Given the description of an element on the screen output the (x, y) to click on. 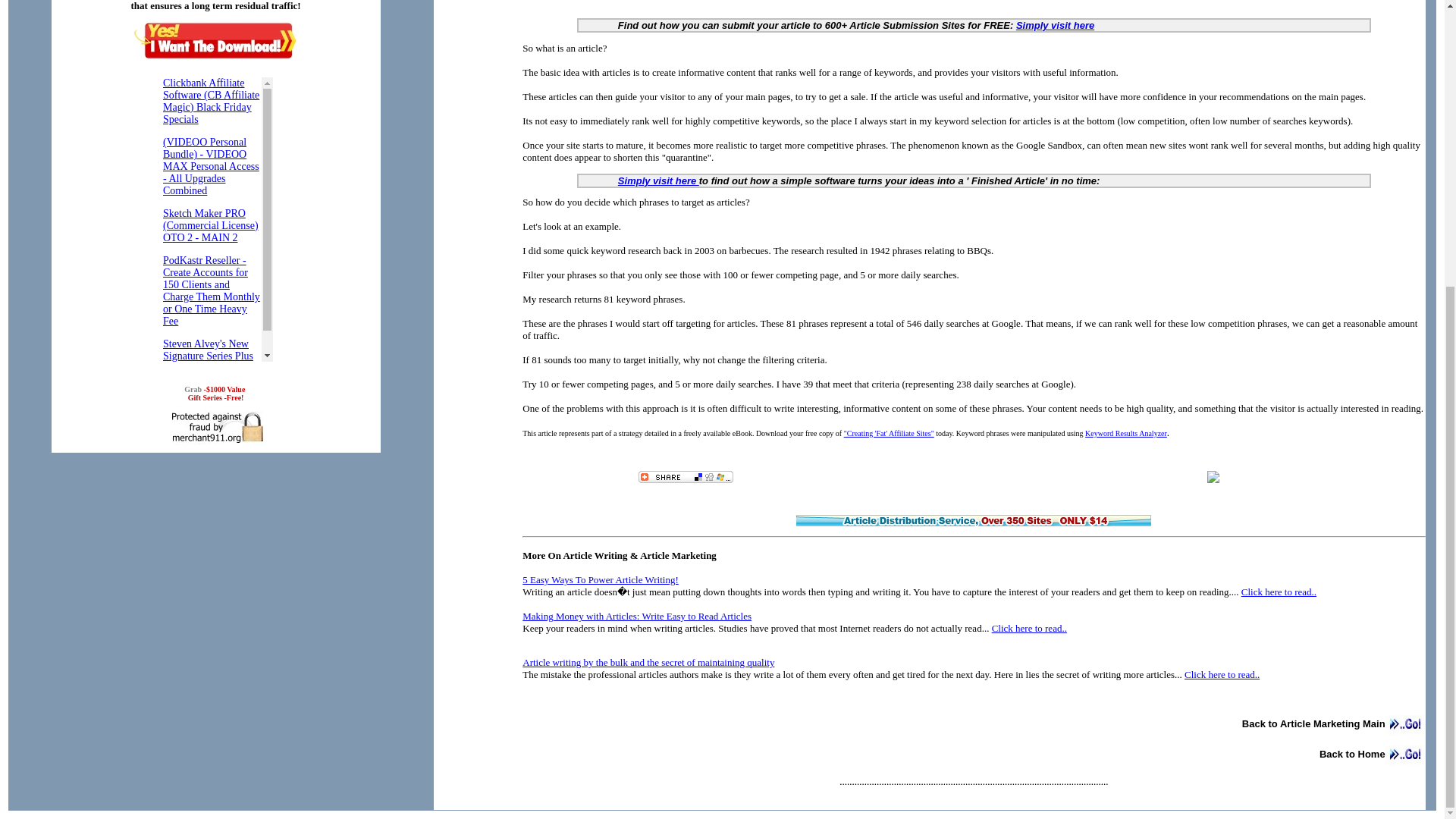
Making Money with Articles: Write Easy to Read Articles (636, 615)
5 Easy Ways To Power Article Writing! (600, 579)
Click here to read.. (1029, 627)
"Creating 'Fat' Affiliate Sites" (889, 433)
Simply visit here (657, 180)
Click here to read.. (1222, 674)
Click here to read.. (1278, 591)
Simply visit here (1055, 25)
Keyword Results Analyzer (1125, 433)
